Given the description of an element on the screen output the (x, y) to click on. 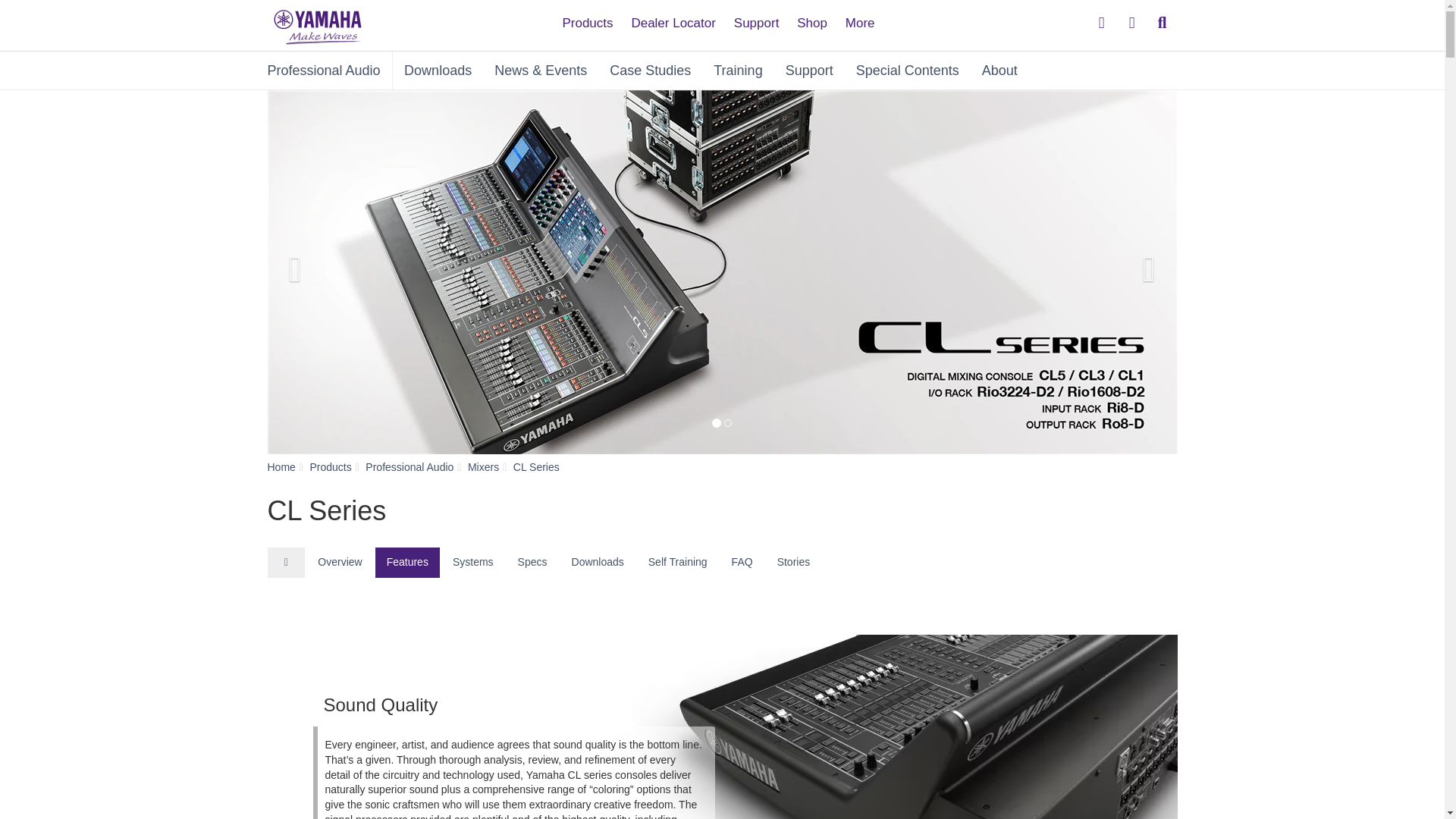
Dealer Locator (673, 17)
Products (587, 17)
search (1162, 23)
Support (756, 17)
Shop (811, 17)
More (860, 17)
View Cart (1131, 23)
My Account (1101, 23)
